Given the description of an element on the screen output the (x, y) to click on. 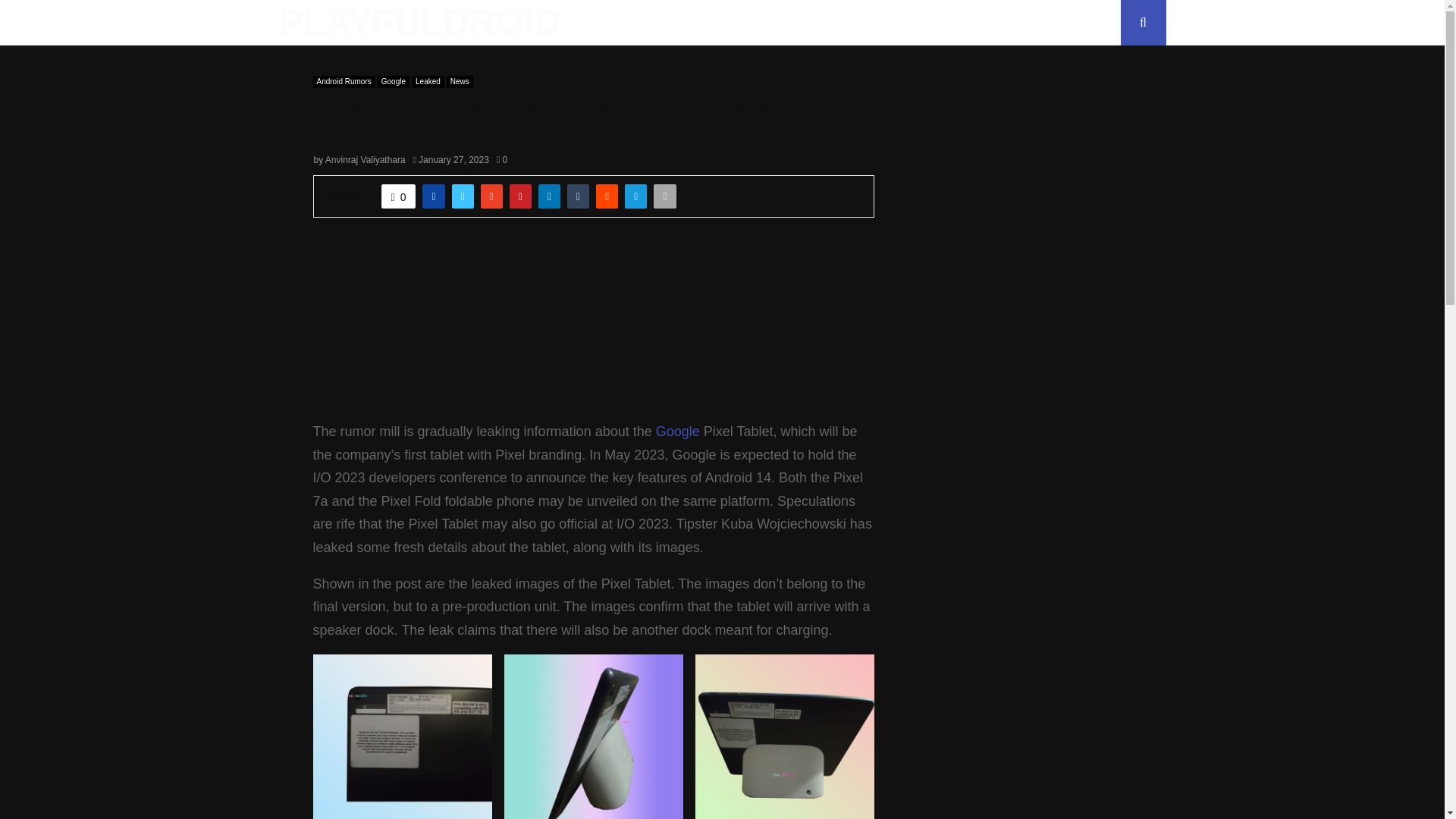
MOBILE PRICE (760, 22)
Google (393, 81)
PLAYFULDROID (419, 22)
HOME (620, 22)
Like (398, 196)
News (459, 81)
Leaked (428, 81)
Anvinraj Valiyathara (365, 159)
NEWS (679, 22)
0 (501, 159)
